Given the description of an element on the screen output the (x, y) to click on. 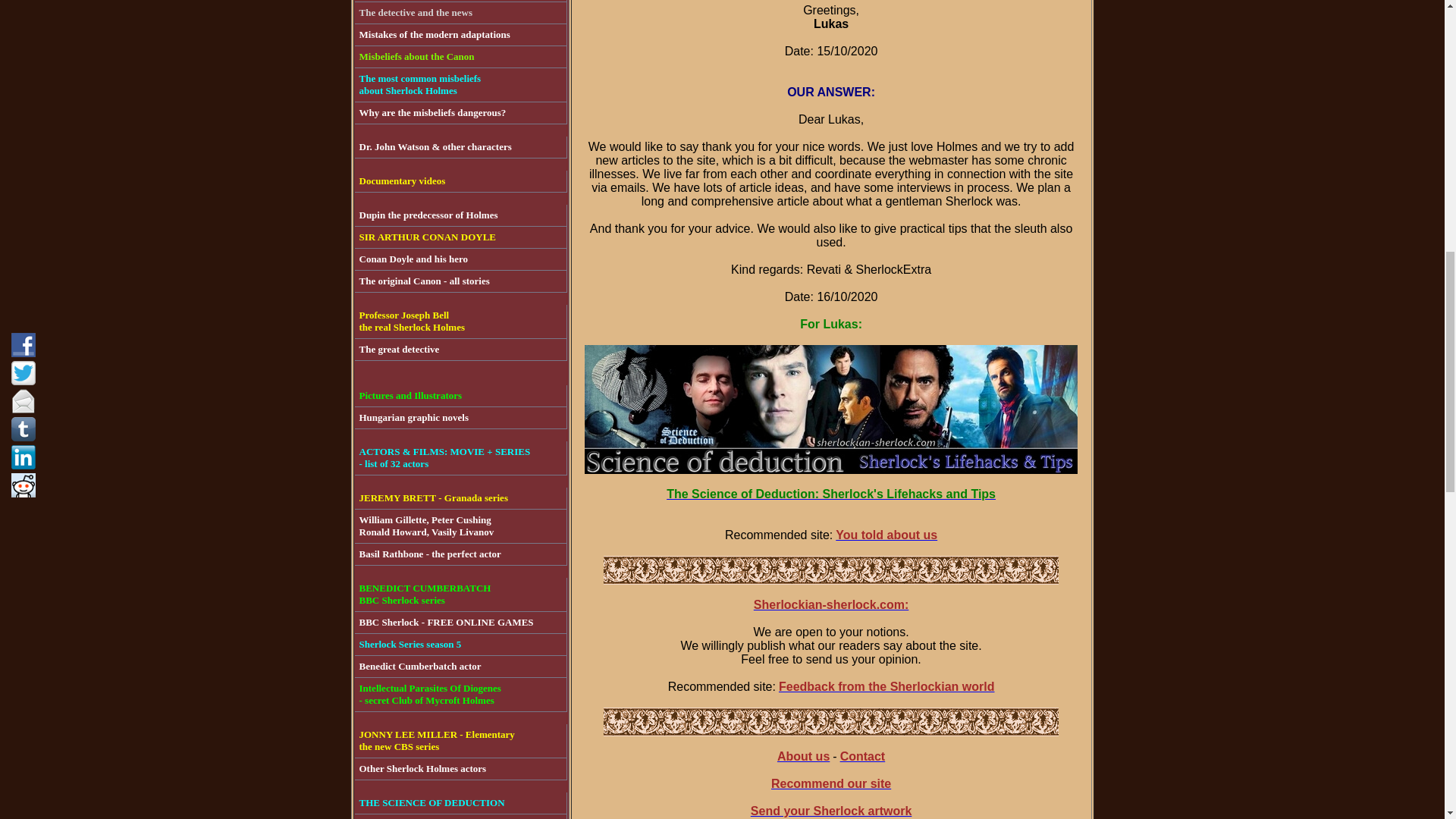
Documentary videos (461, 181)
Misbeliefs about the Canon (461, 56)
Dupin the predecessor of Holmes (461, 215)
Mistakes of the modern adaptations (461, 84)
JEREMY BRETT - Granada series (461, 34)
Sherlock Holmes and the news (461, 498)
BBC Sherlock - FREE ONLINE GAMES (461, 13)
SIR ARTHUR CONAN DOYLE (461, 622)
The detective and the news (461, 237)
Basil Rathbone - the perfect actor (461, 13)
Hungarian graphic novels (461, 554)
The great detective (461, 418)
